Given the description of an element on the screen output the (x, y) to click on. 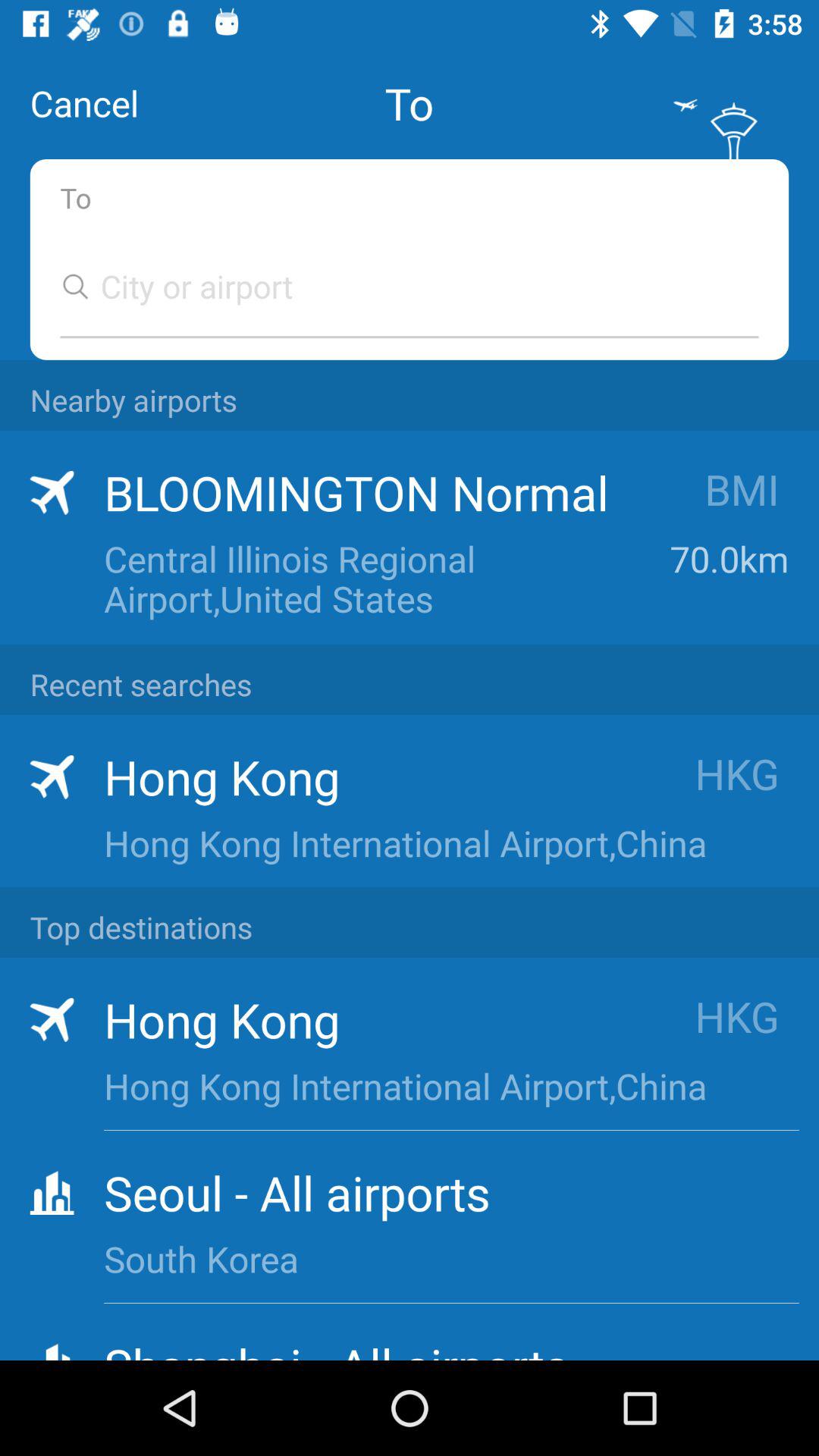
turn off the item above to (84, 103)
